Given the description of an element on the screen output the (x, y) to click on. 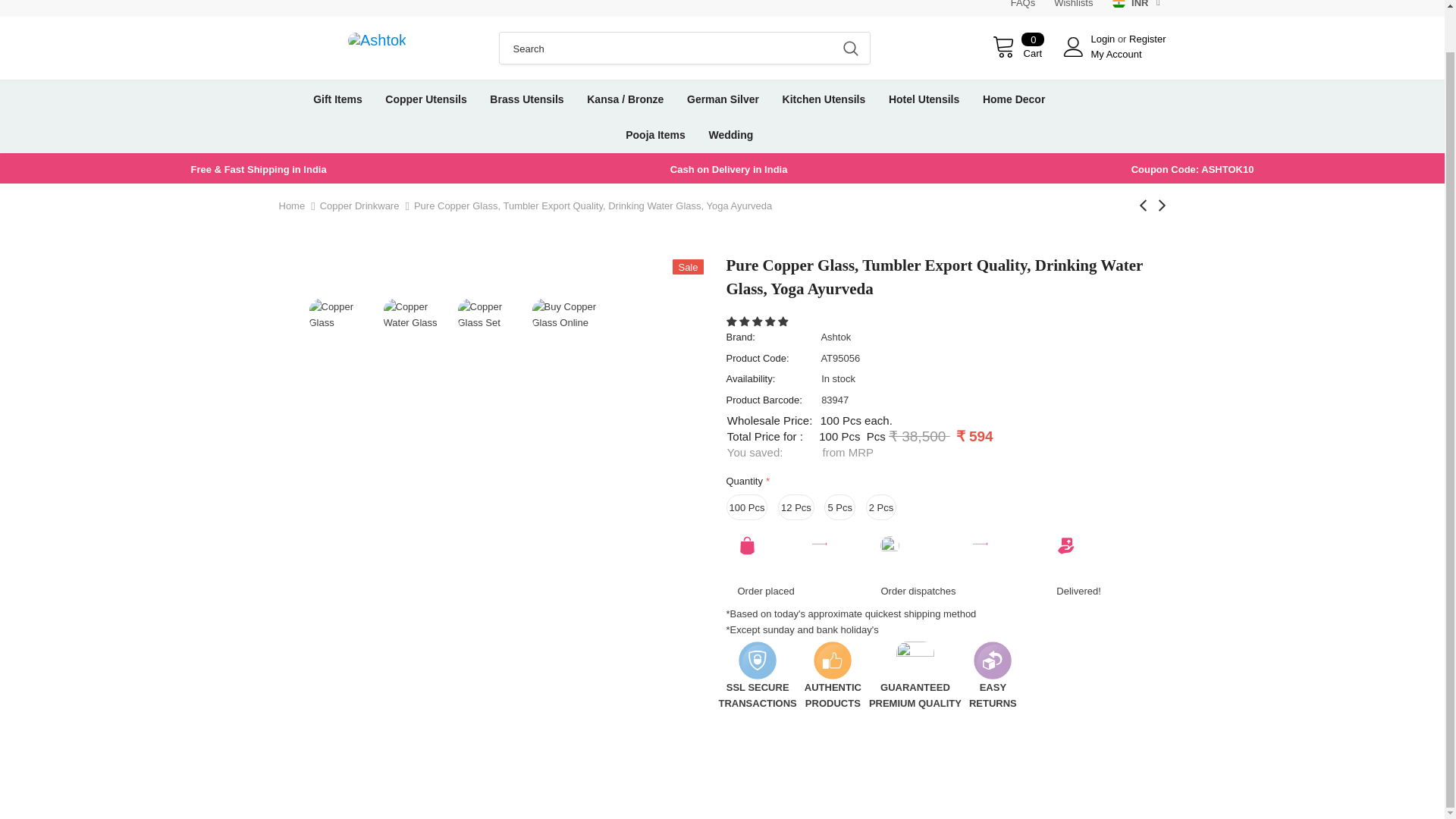
Gift Items (337, 99)
My Account (1017, 46)
Login (1115, 53)
Wishlists (1103, 39)
Register (1073, 4)
Logo (1147, 39)
FAQs (377, 39)
